Given the description of an element on the screen output the (x, y) to click on. 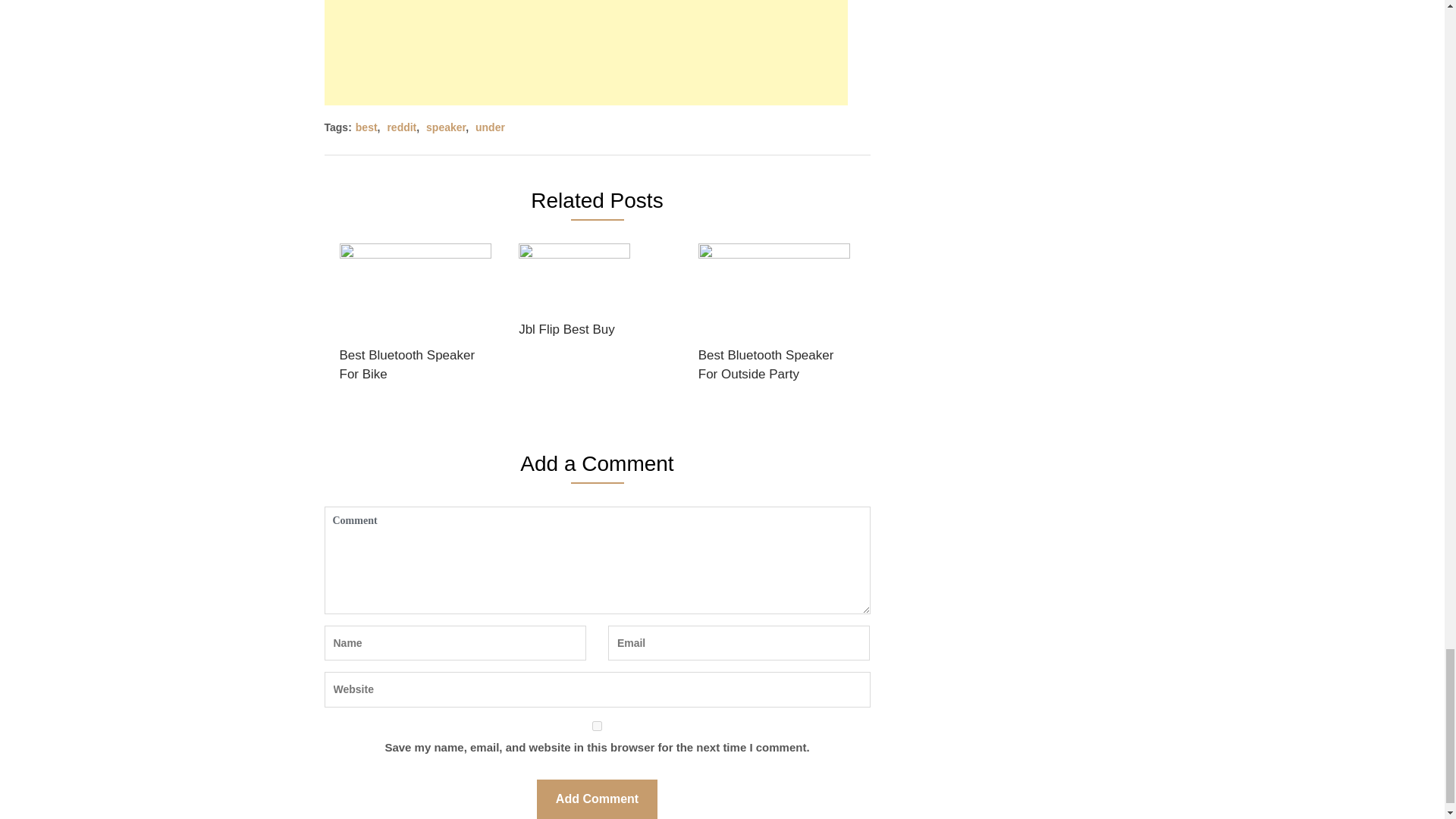
Best Bluetooth Speaker For Bike (415, 317)
speaker (445, 127)
Jbl Flip Best Buy (574, 295)
Best Bluetooth Speaker For Outside Party (774, 317)
Best Bluetooth Speaker For Outside Party (774, 317)
Best Bluetooth Speaker For Bike (415, 317)
under (490, 127)
Jbl Flip Best Buy (574, 295)
reddit (401, 127)
yes (597, 725)
best (366, 127)
